Given the description of an element on the screen output the (x, y) to click on. 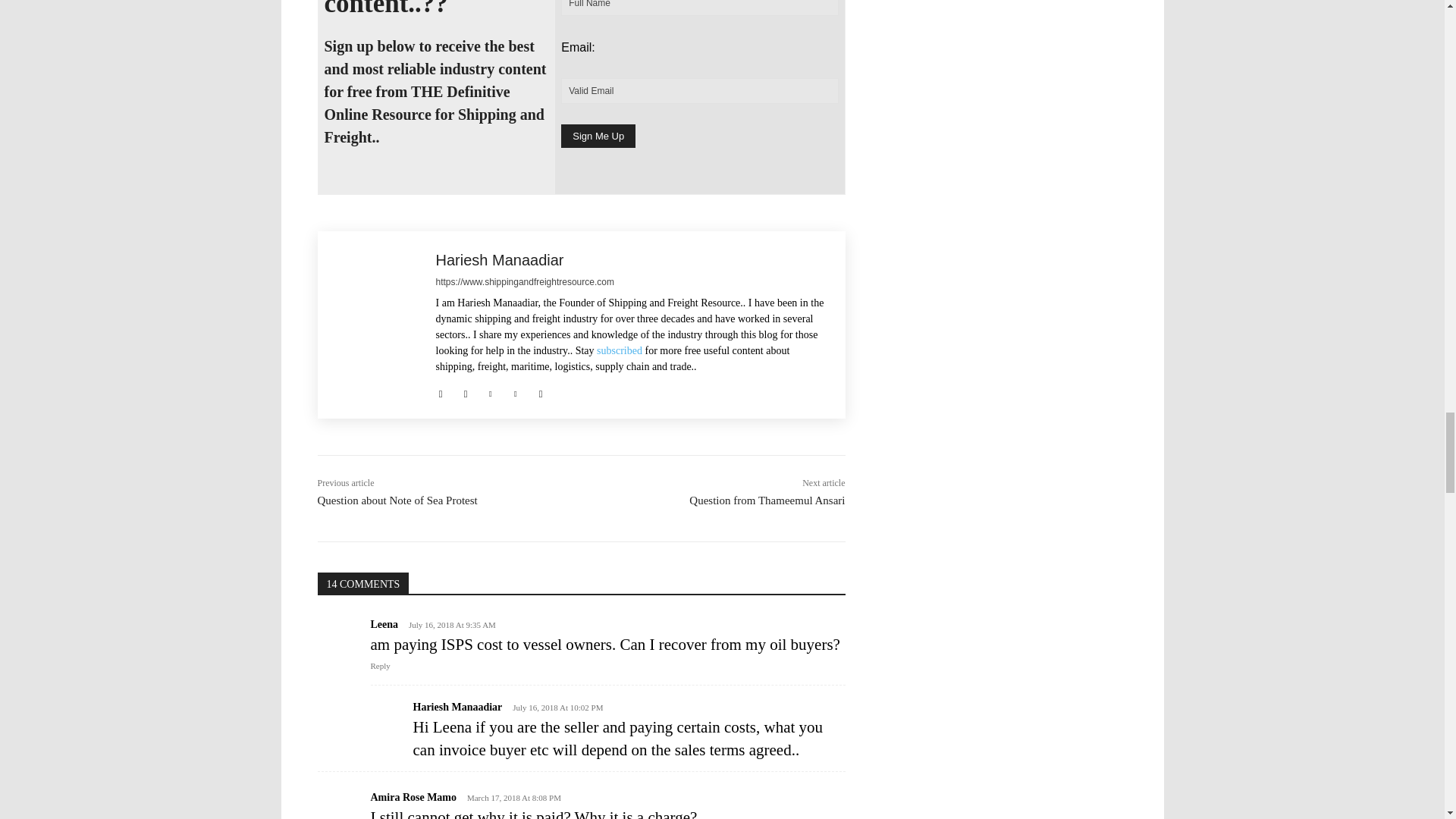
Sign Me Up (597, 136)
Full Name (699, 7)
Valid Email (699, 90)
